Given the description of an element on the screen output the (x, y) to click on. 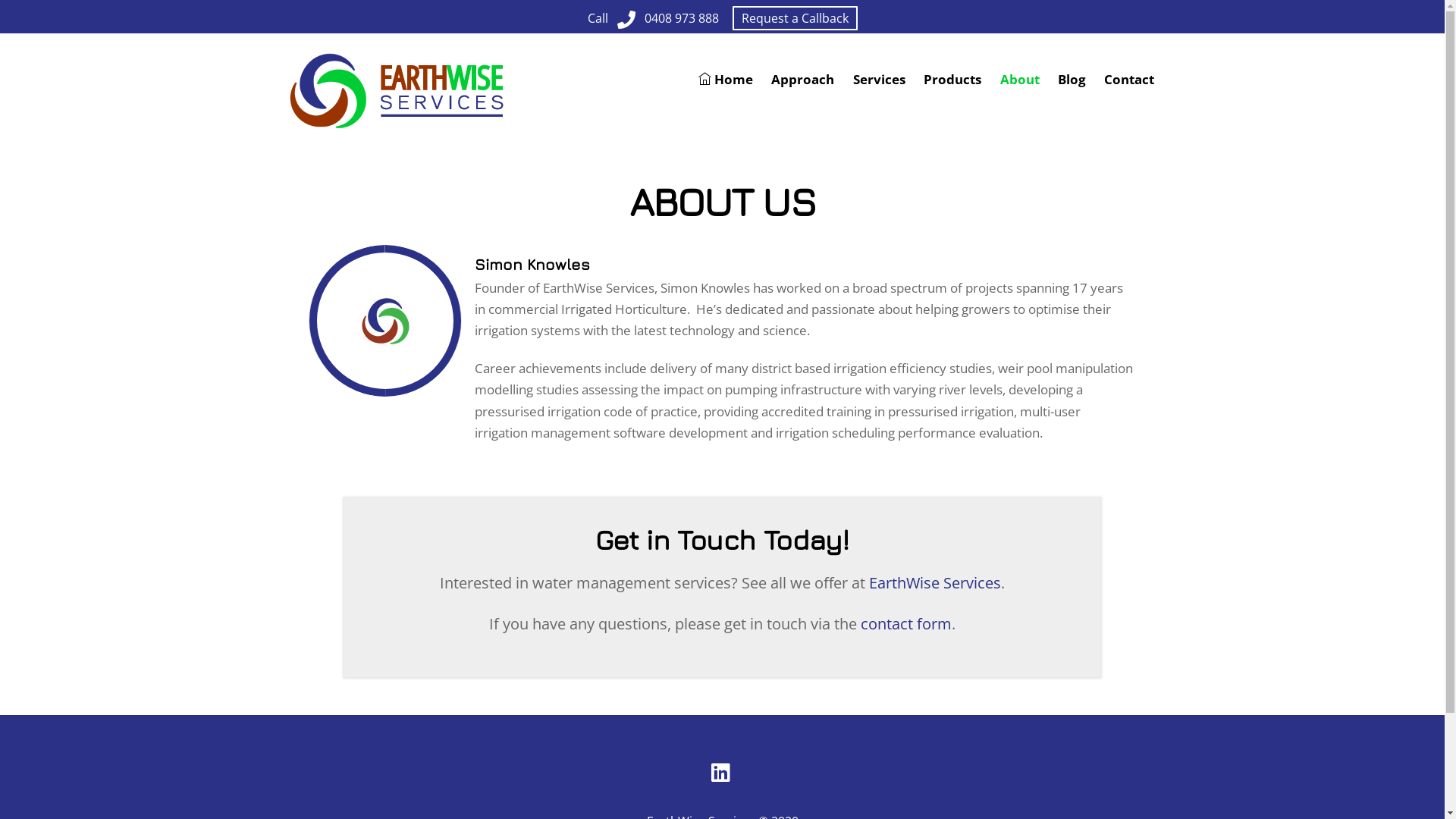
EarthWise Services Element type: text (935, 582)
Services Element type: text (879, 79)
EarthWise Services Element type: hover (395, 124)
Home Element type: text (725, 79)
contact form Element type: text (905, 623)
Request a Callback Element type: text (794, 18)
Products Element type: text (952, 79)
EarthWise Services, Logo Element type: hover (395, 90)
Approach Element type: text (802, 79)
About Element type: text (1018, 79)
Call0408 973 888 Element type: text (652, 17)
Contact Element type: text (1128, 79)
Blog Element type: text (1071, 79)
